Given the description of an element on the screen output the (x, y) to click on. 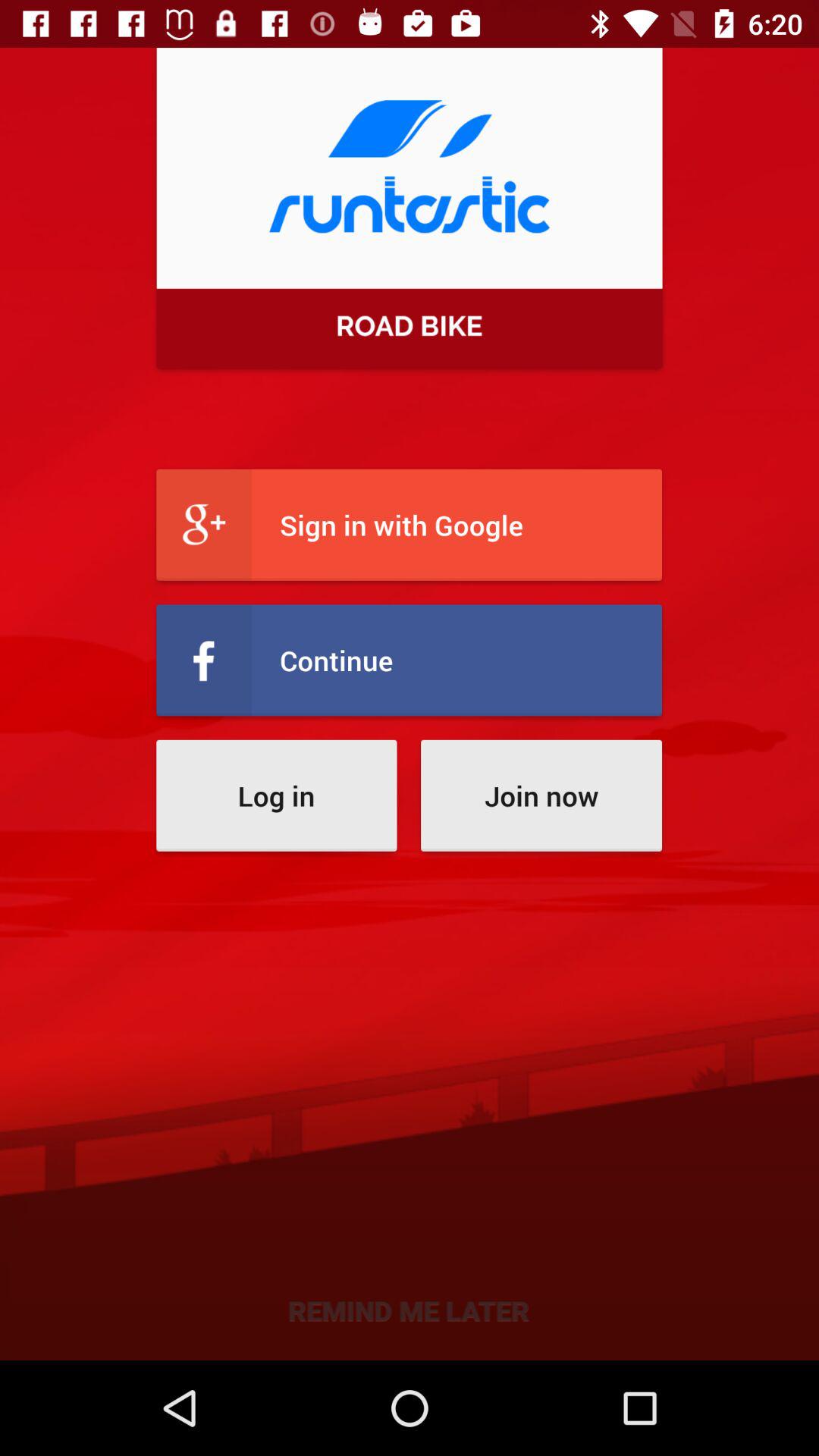
click item above remind me later item (276, 795)
